Given the description of an element on the screen output the (x, y) to click on. 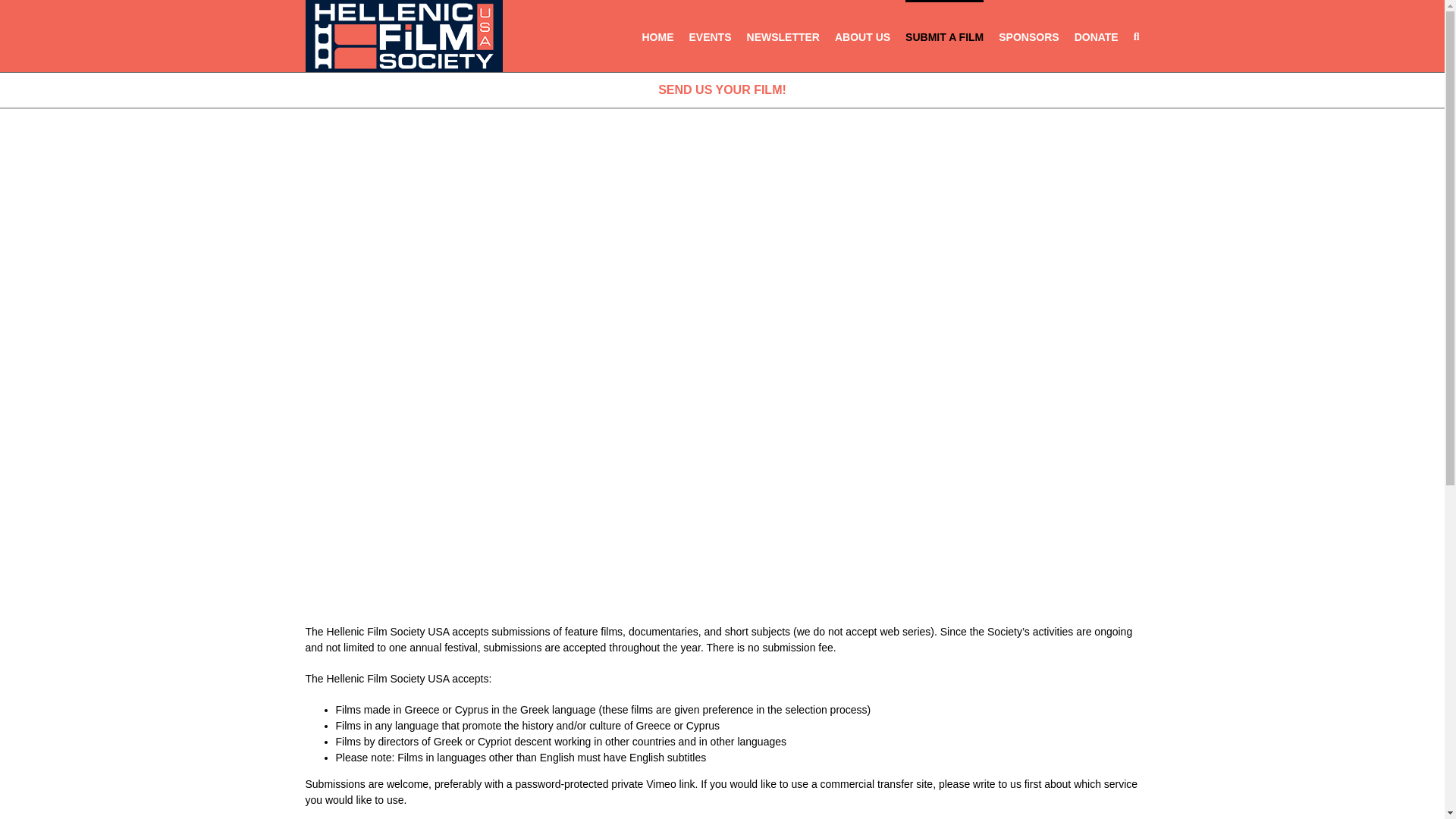
NEWSLETTER (782, 36)
SUBMIT A FILM (944, 36)
